Given the description of an element on the screen output the (x, y) to click on. 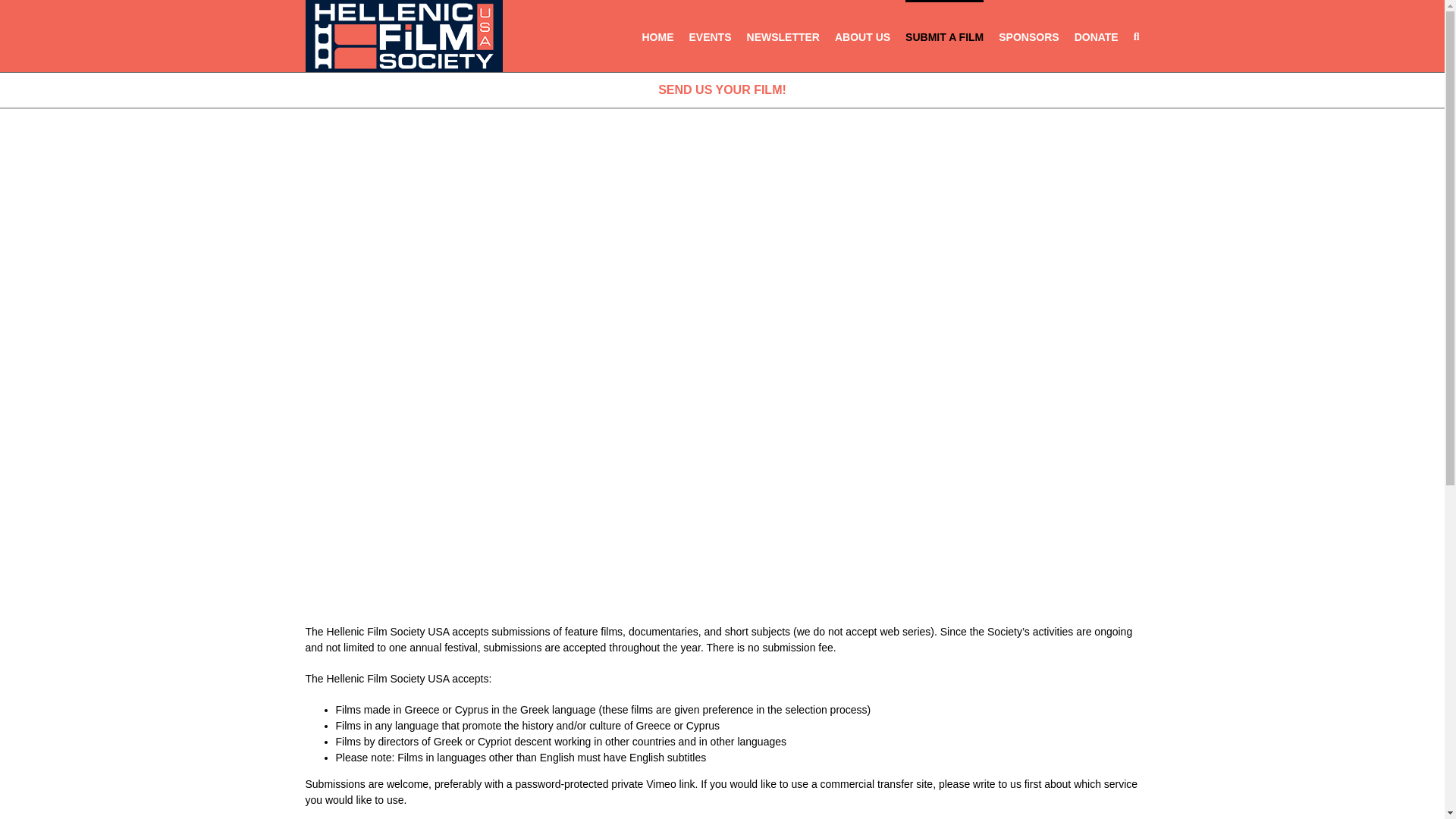
NEWSLETTER (782, 36)
SUBMIT A FILM (944, 36)
